Given the description of an element on the screen output the (x, y) to click on. 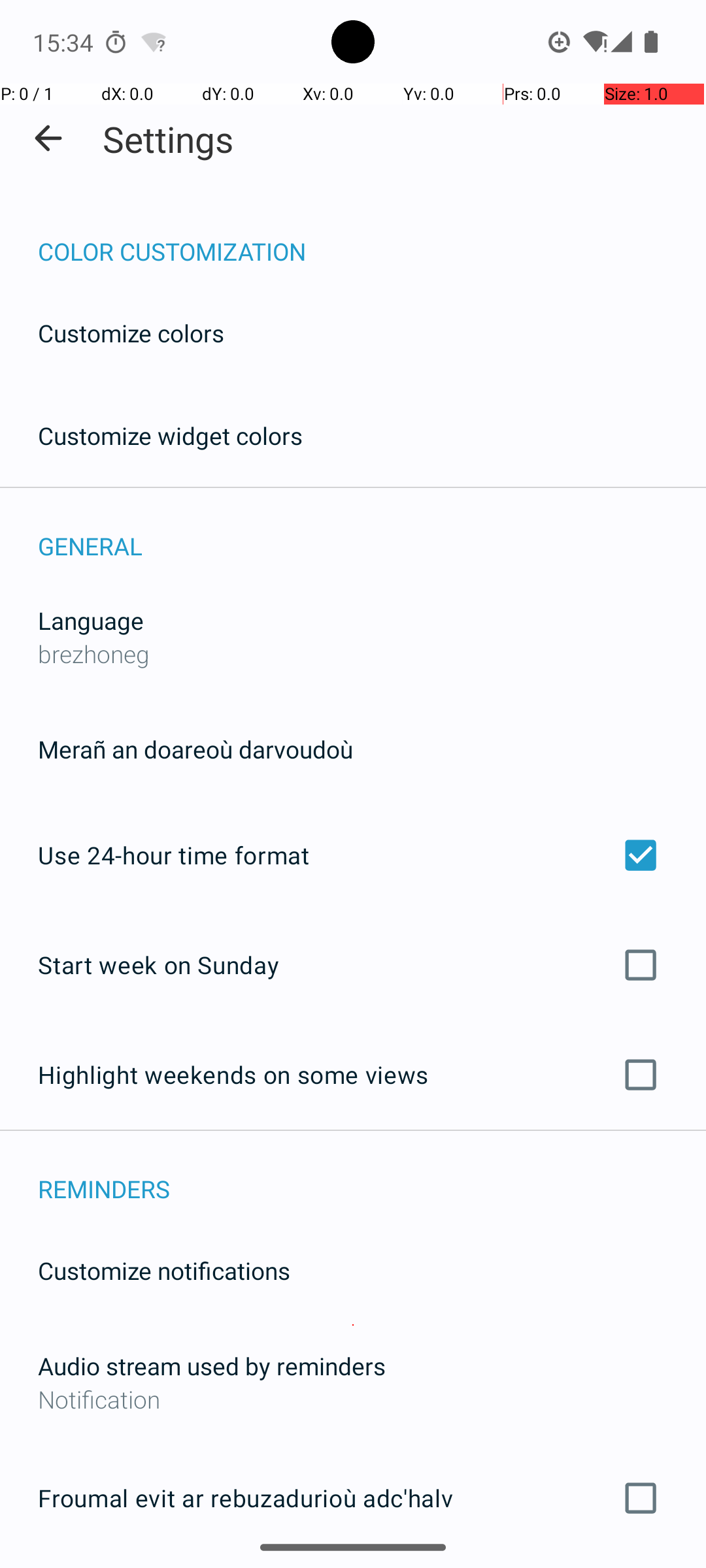
brezhoneg Element type: android.widget.TextView (93, 653)
Merañ an doareoù darvoudoù Element type: android.widget.TextView (195, 748)
Froumal evit ar rebuzadurioù adc'halv Element type: android.widget.CheckBox (352, 1497)
